Given the description of an element on the screen output the (x, y) to click on. 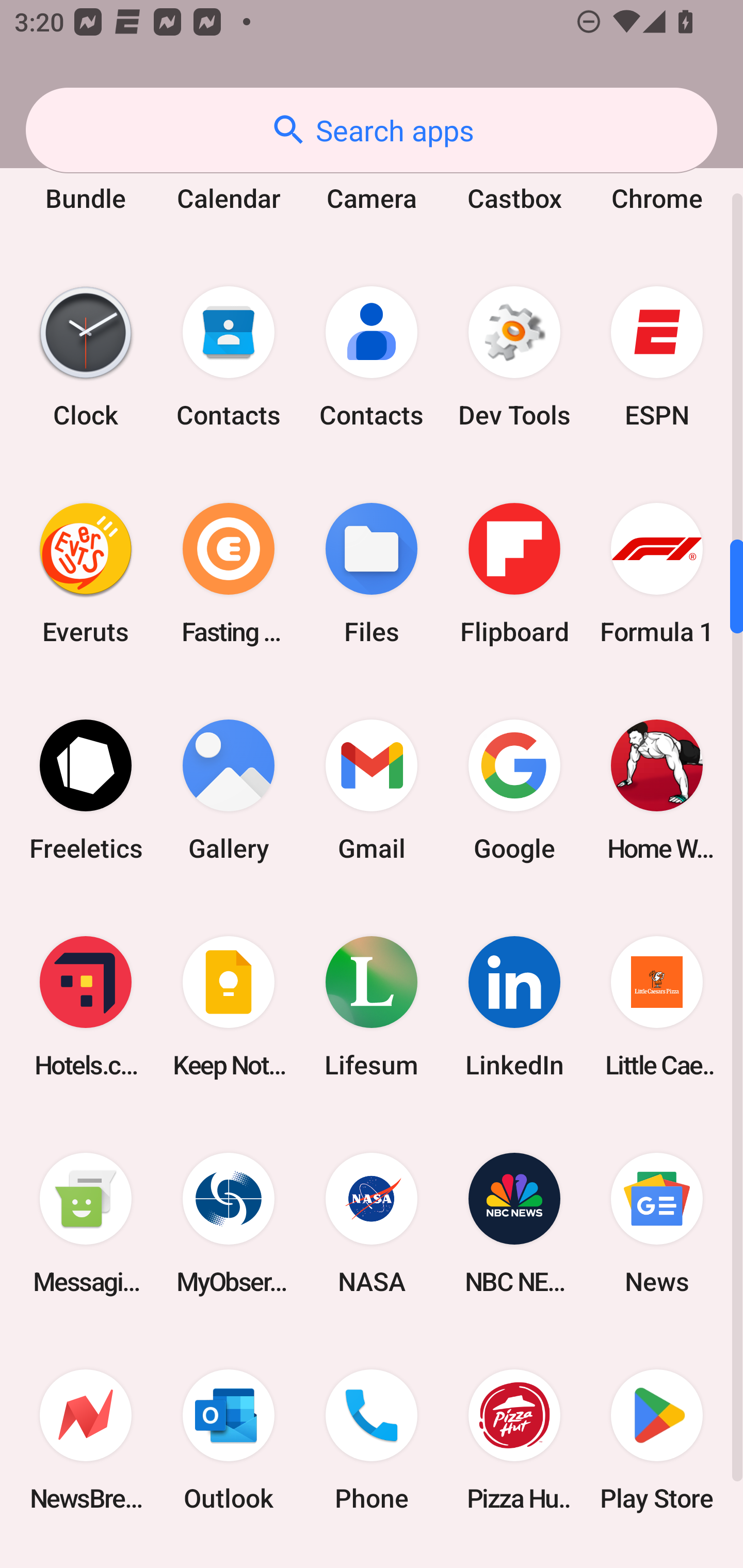
  Search apps (371, 130)
Clock (85, 357)
Contacts (228, 357)
Contacts (371, 357)
Dev Tools (514, 357)
ESPN (656, 357)
Everuts (85, 573)
Fasting Coach (228, 573)
Files (371, 573)
Flipboard (514, 573)
Formula 1 (656, 573)
Freeletics (85, 790)
Gallery (228, 790)
Gmail (371, 790)
Google (514, 790)
Home Workout (656, 790)
Hotels.com (85, 1006)
Keep Notes (228, 1006)
Lifesum (371, 1006)
LinkedIn (514, 1006)
Little Caesars Pizza (656, 1006)
Messaging (85, 1222)
MyObservatory (228, 1222)
NASA (371, 1222)
NBC NEWS (514, 1222)
News (656, 1222)
NewsBreak (85, 1440)
Outlook (228, 1440)
Phone (371, 1440)
Pizza Hut HK & Macau (514, 1440)
Play Store (656, 1440)
